Given the description of an element on the screen output the (x, y) to click on. 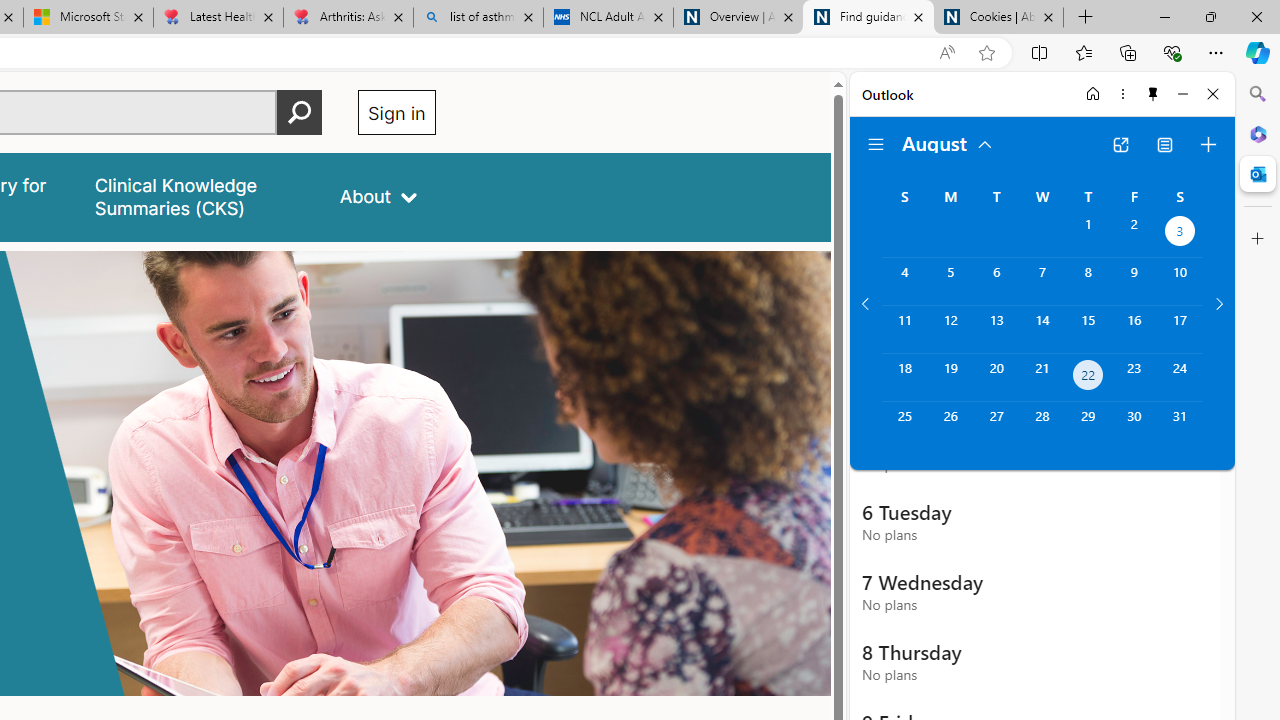
Sign in (396, 112)
Sunday, August 11, 2024.  (904, 329)
NCL Adult Asthma Inhaler Choice Guideline (608, 17)
Saturday, August 10, 2024.  (1180, 281)
Friday, August 9, 2024.  (1134, 281)
August (948, 141)
Wednesday, August 7, 2024.  (1042, 281)
Thursday, August 1, 2024.  (1088, 233)
Arthritis: Ask Health Professionals (348, 17)
Monday, August 5, 2024.  (950, 281)
